Given the description of an element on the screen output the (x, y) to click on. 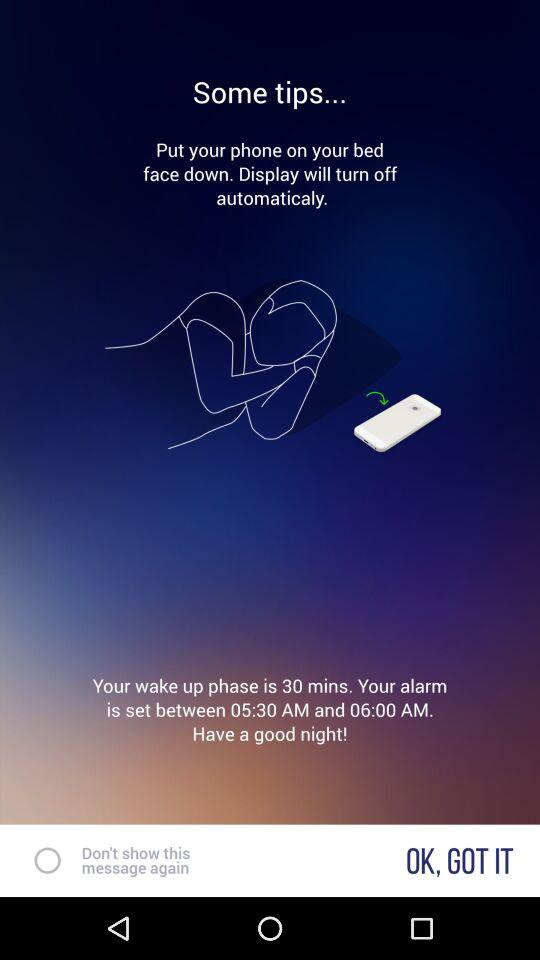
click on text next to ok got it at the bottom of the page (136, 860)
select the option on the bottom left corner of the web page (38, 860)
